Given the description of an element on the screen output the (x, y) to click on. 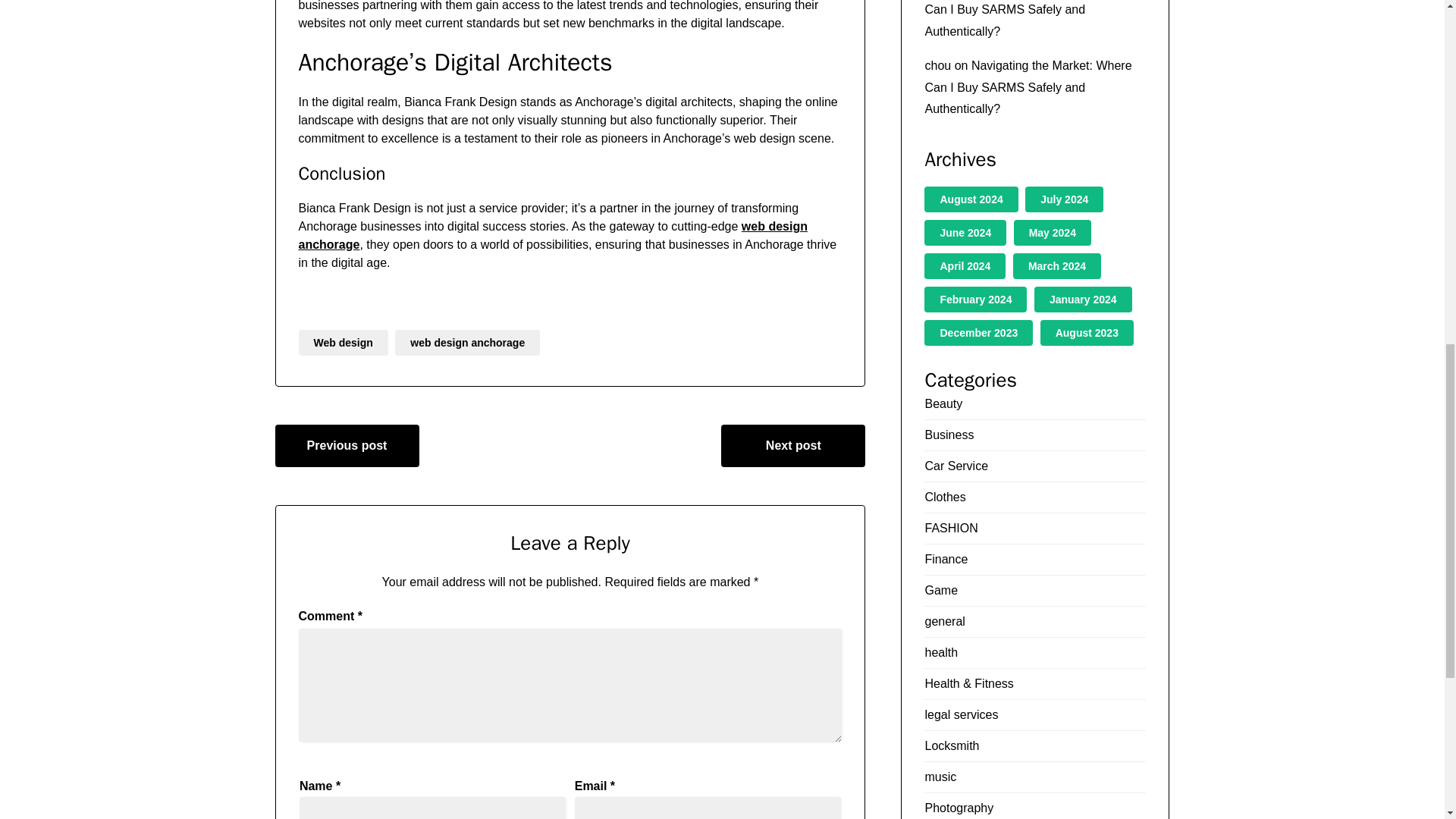
Previous post (347, 445)
March 2024 (1056, 265)
December 2023 (978, 332)
Car Service (956, 465)
June 2024 (965, 232)
Business (949, 434)
chou (937, 65)
web design anchorage (553, 235)
August 2023 (1086, 332)
April 2024 (964, 265)
Web design (343, 342)
July 2024 (1064, 199)
January 2024 (1082, 299)
February 2024 (975, 299)
Beauty (943, 403)
